Given the description of an element on the screen output the (x, y) to click on. 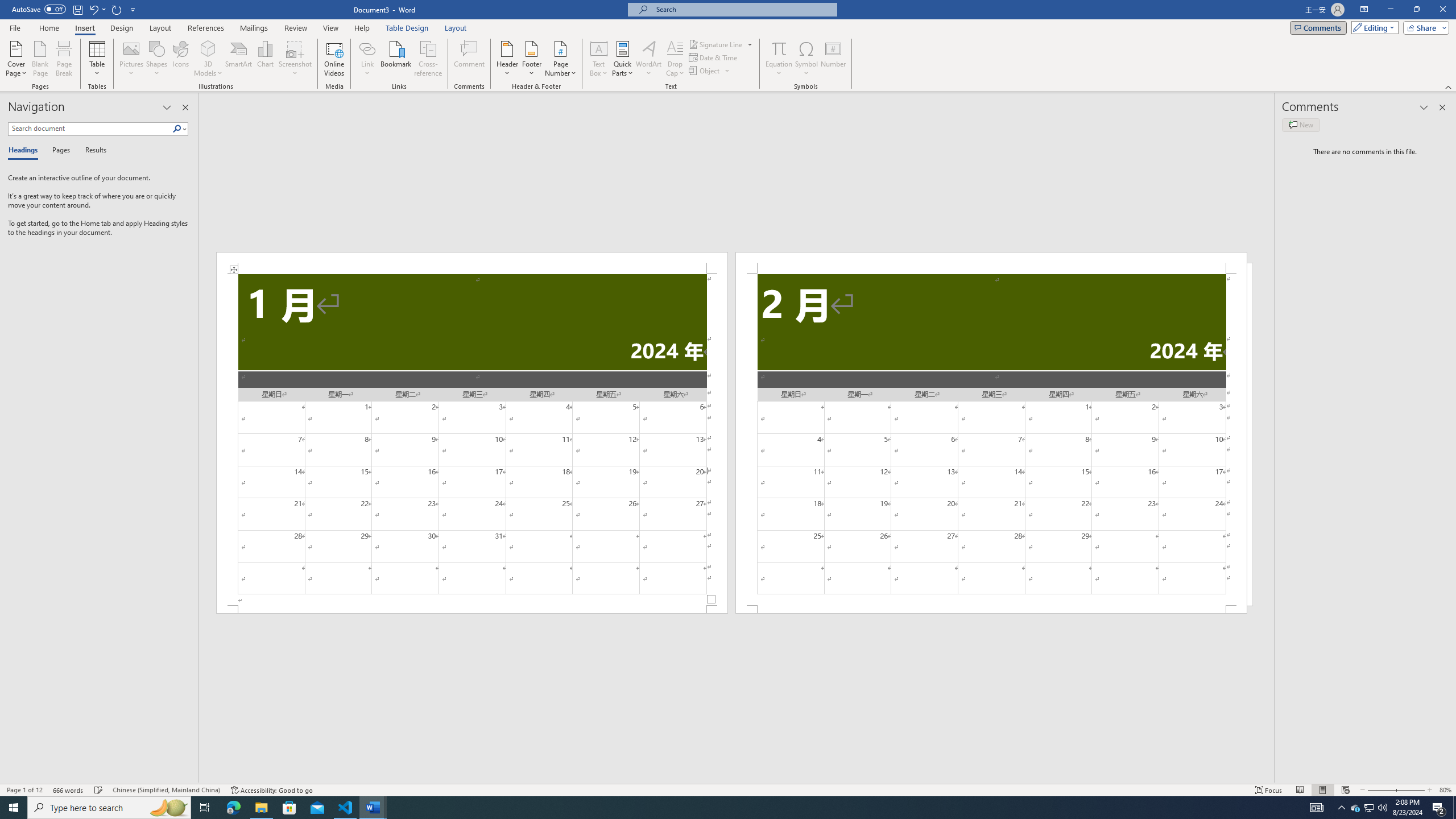
Help (361, 28)
Insert (83, 28)
Header -Section 2- (991, 263)
Accessibility Checker Accessibility: Good to go (271, 790)
New comment (1300, 124)
Page Number (560, 58)
Layout (455, 28)
Icons (180, 58)
Date & Time... (714, 56)
Pages (59, 150)
Review (295, 28)
Comments (1318, 27)
Signature Line (716, 44)
